Given the description of an element on the screen output the (x, y) to click on. 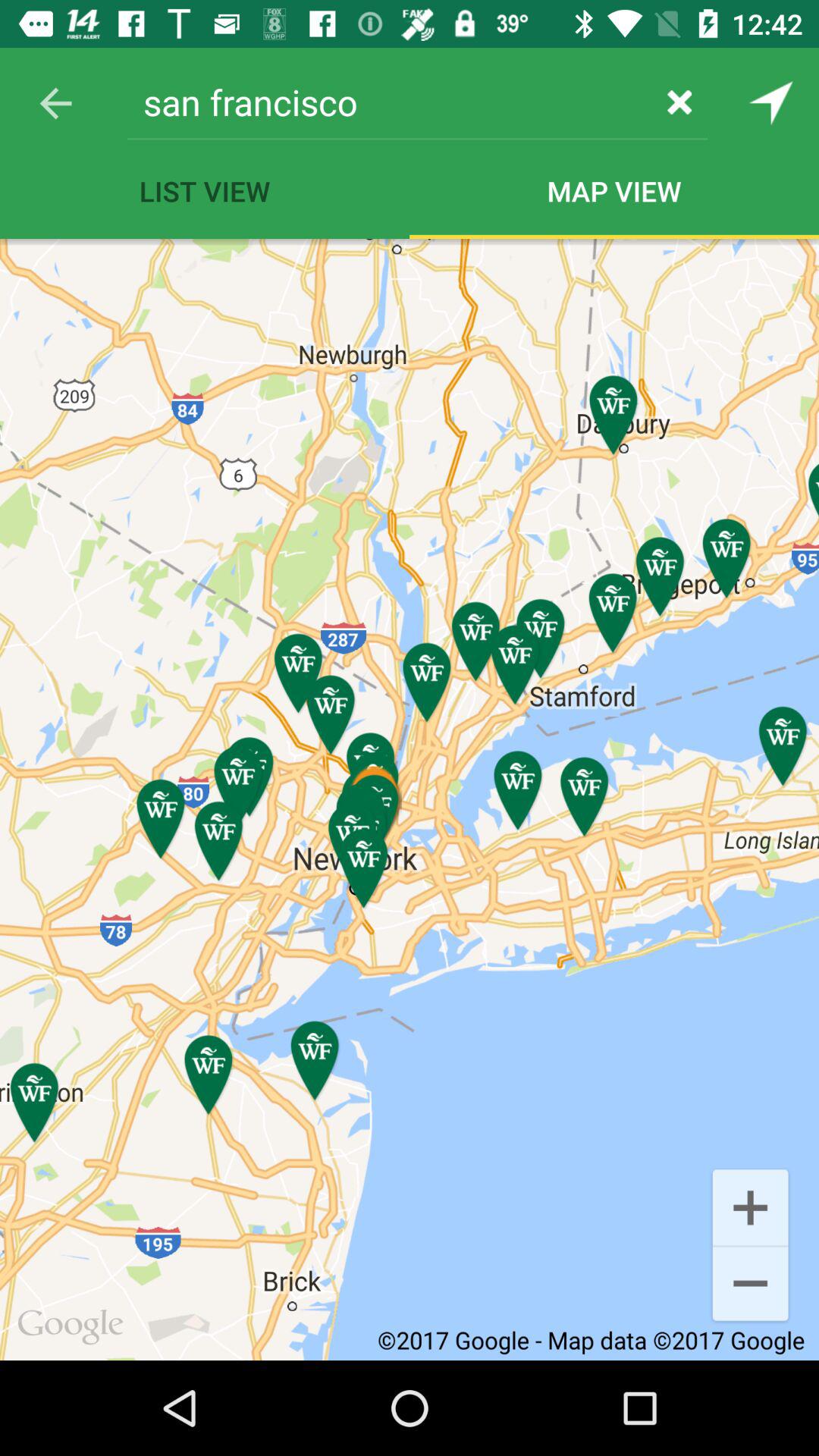
tap item above map view (679, 102)
